Given the description of an element on the screen output the (x, y) to click on. 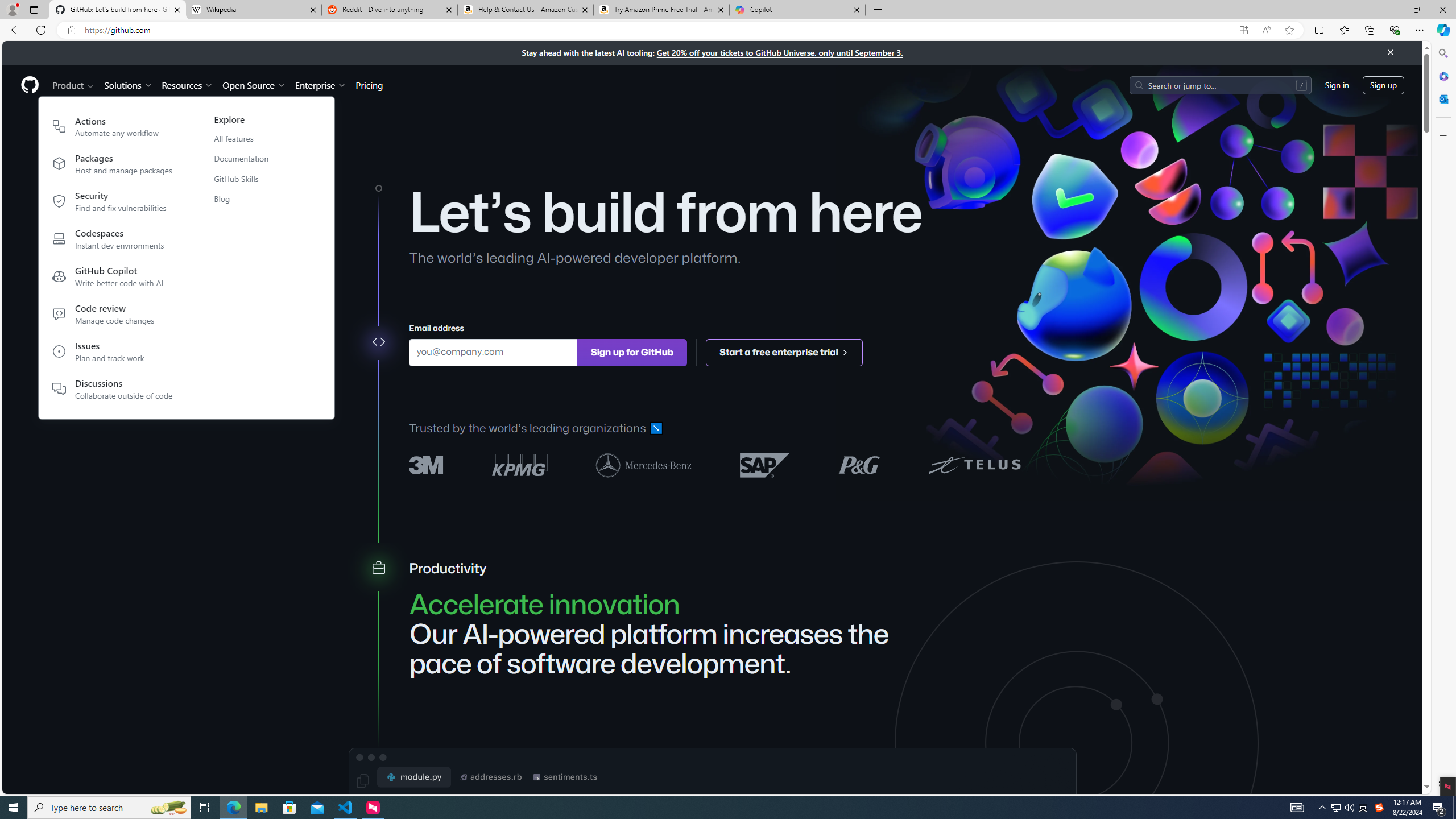
Product (74, 84)
Enterprise (319, 84)
Blog (248, 199)
Pricing (368, 84)
Homepage (29, 85)
Solutions (128, 84)
Pricing (368, 84)
KPMG logo (519, 464)
Sign up (1382, 84)
